Given the description of an element on the screen output the (x, y) to click on. 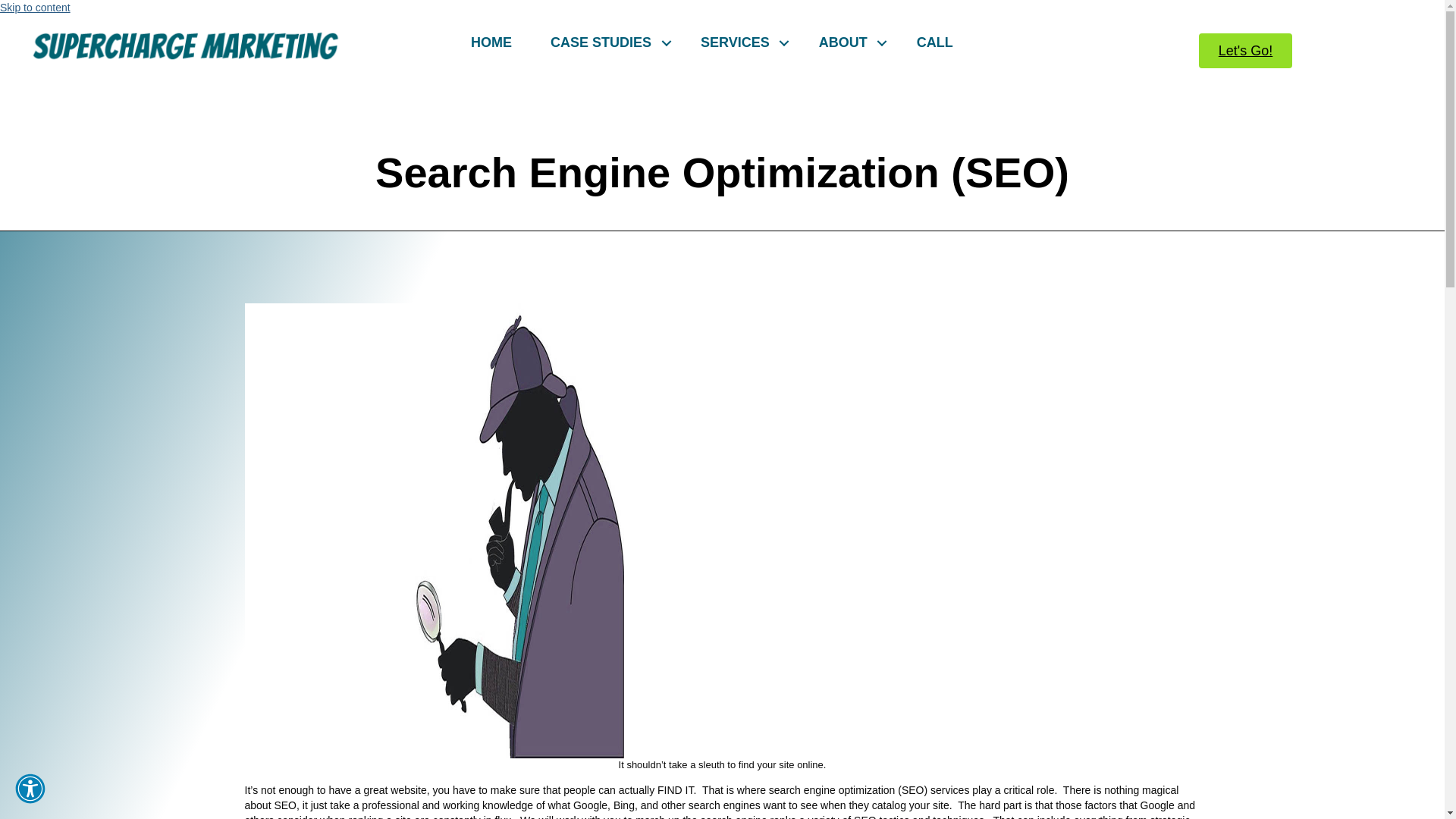
Skip to content (34, 7)
SERVICES (740, 42)
ABOUT (847, 42)
SuperCharge 24 a copy (184, 45)
Let's Go! (1245, 50)
CALL (935, 42)
HOME (491, 42)
CASE STUDIES (606, 42)
